Given the description of an element on the screen output the (x, y) to click on. 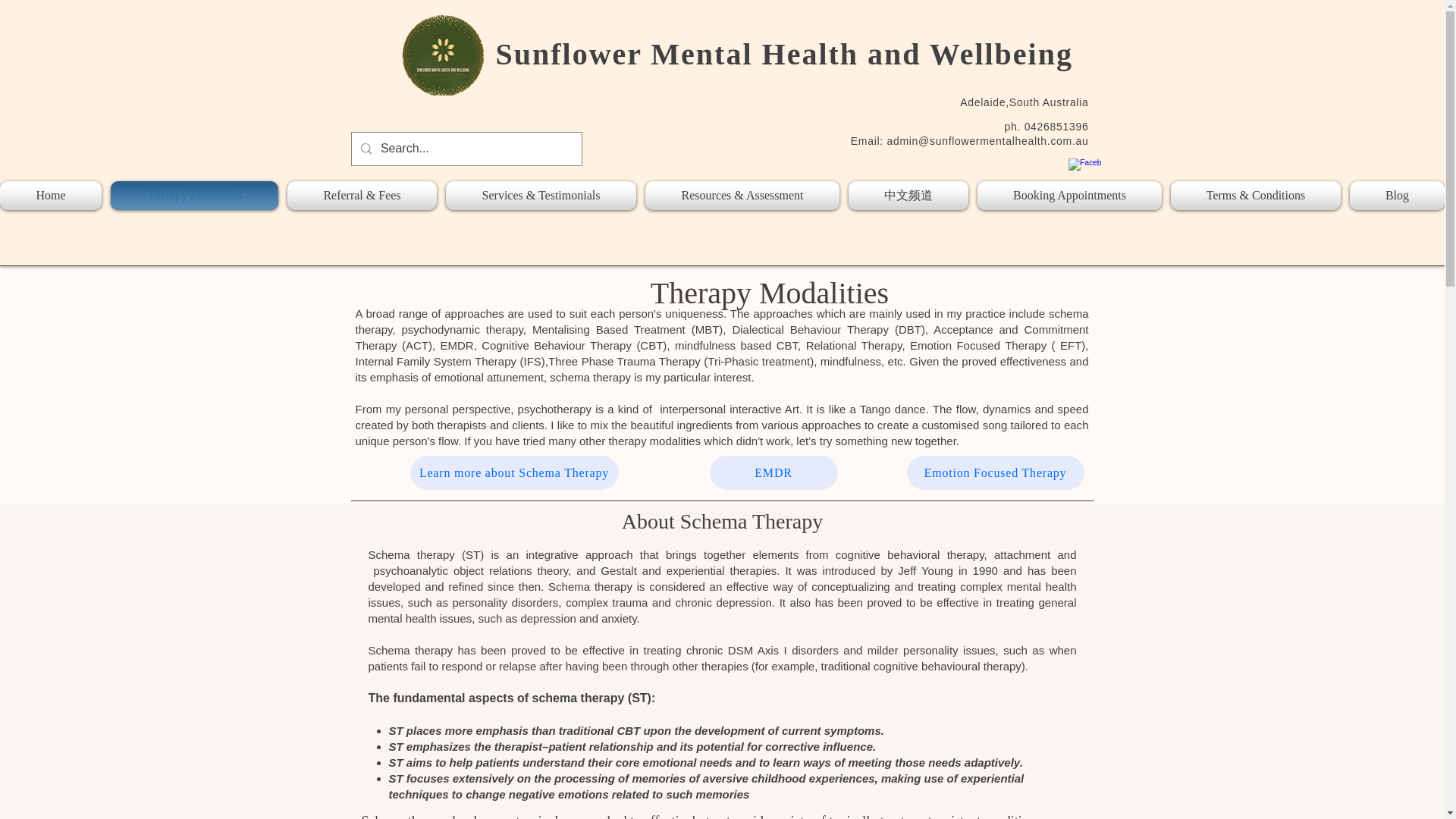
Emotion Focused Therapy (995, 472)
Adelaide,South Australia (1023, 102)
cognitive behavioural therapy (947, 666)
DSM (740, 649)
psychoanalytic (409, 570)
Learn more about Schema Therapy (513, 472)
Sunflower Mental Health and Wellbeing (784, 53)
Booking Appointments (1069, 194)
object relations theory (509, 570)
Therapy Modalities (194, 194)
EMDR (774, 472)
Home (53, 194)
ph. 0426851396 (1045, 126)
